Given the description of an element on the screen output the (x, y) to click on. 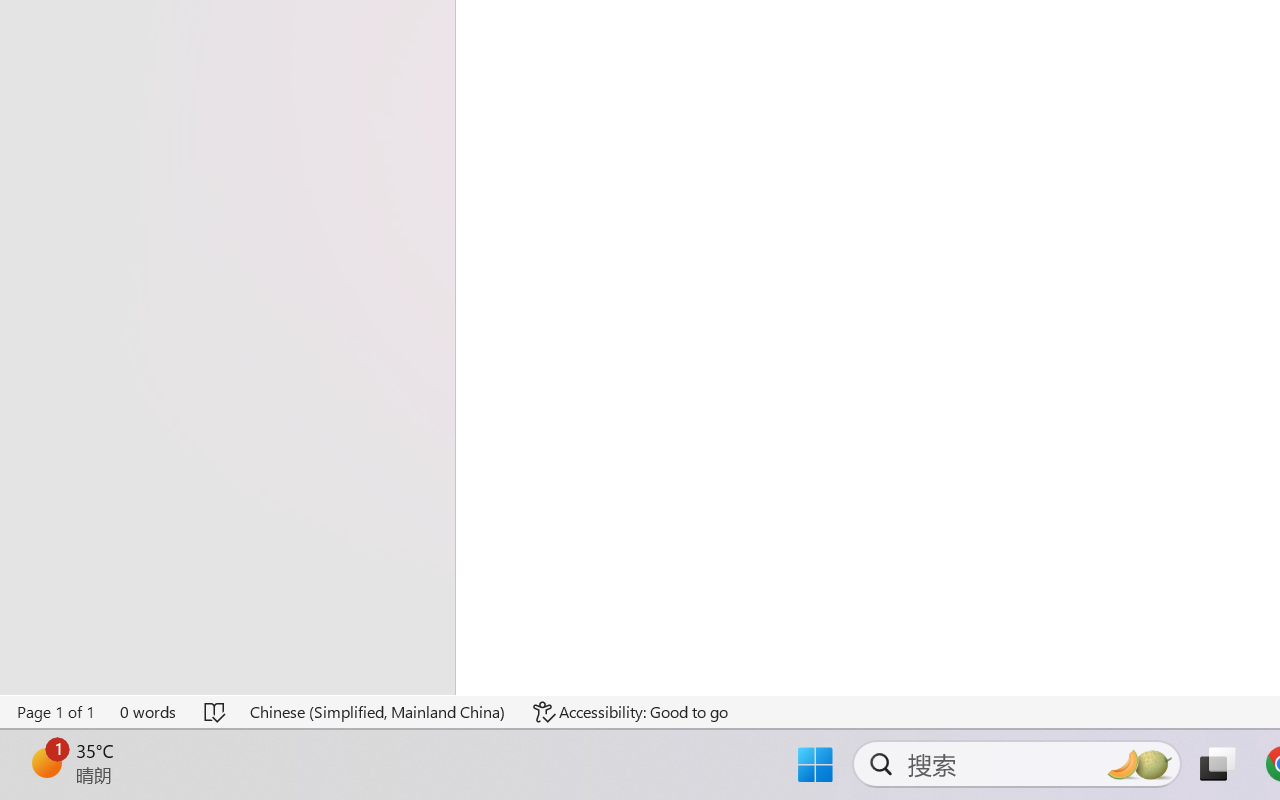
Language Chinese (Simplified, Mainland China) (378, 712)
